Given the description of an element on the screen output the (x, y) to click on. 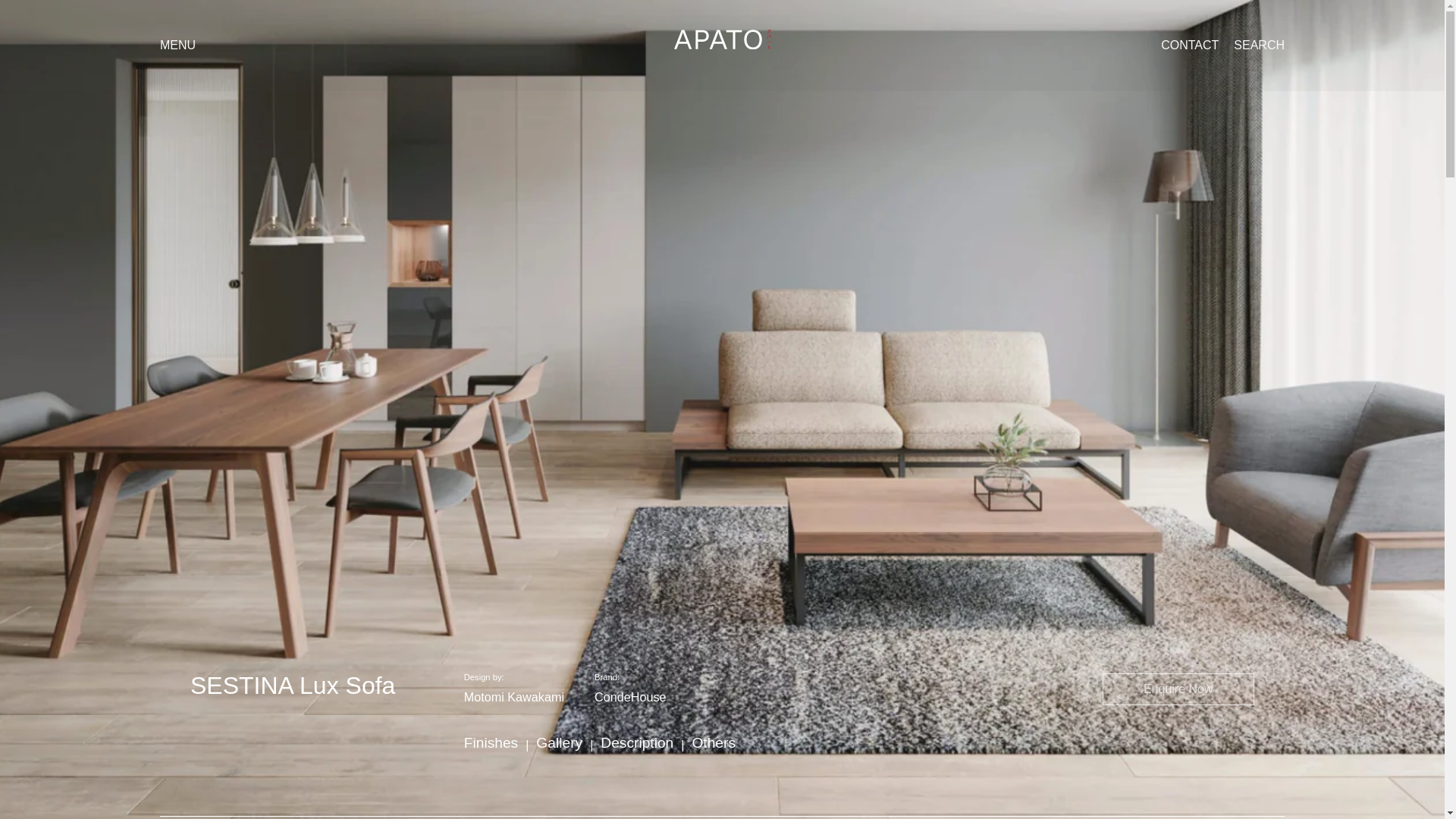
MENU (177, 44)
CONTACT (1189, 45)
Subscribe (1209, 535)
SEARCH (1258, 45)
